Given the description of an element on the screen output the (x, y) to click on. 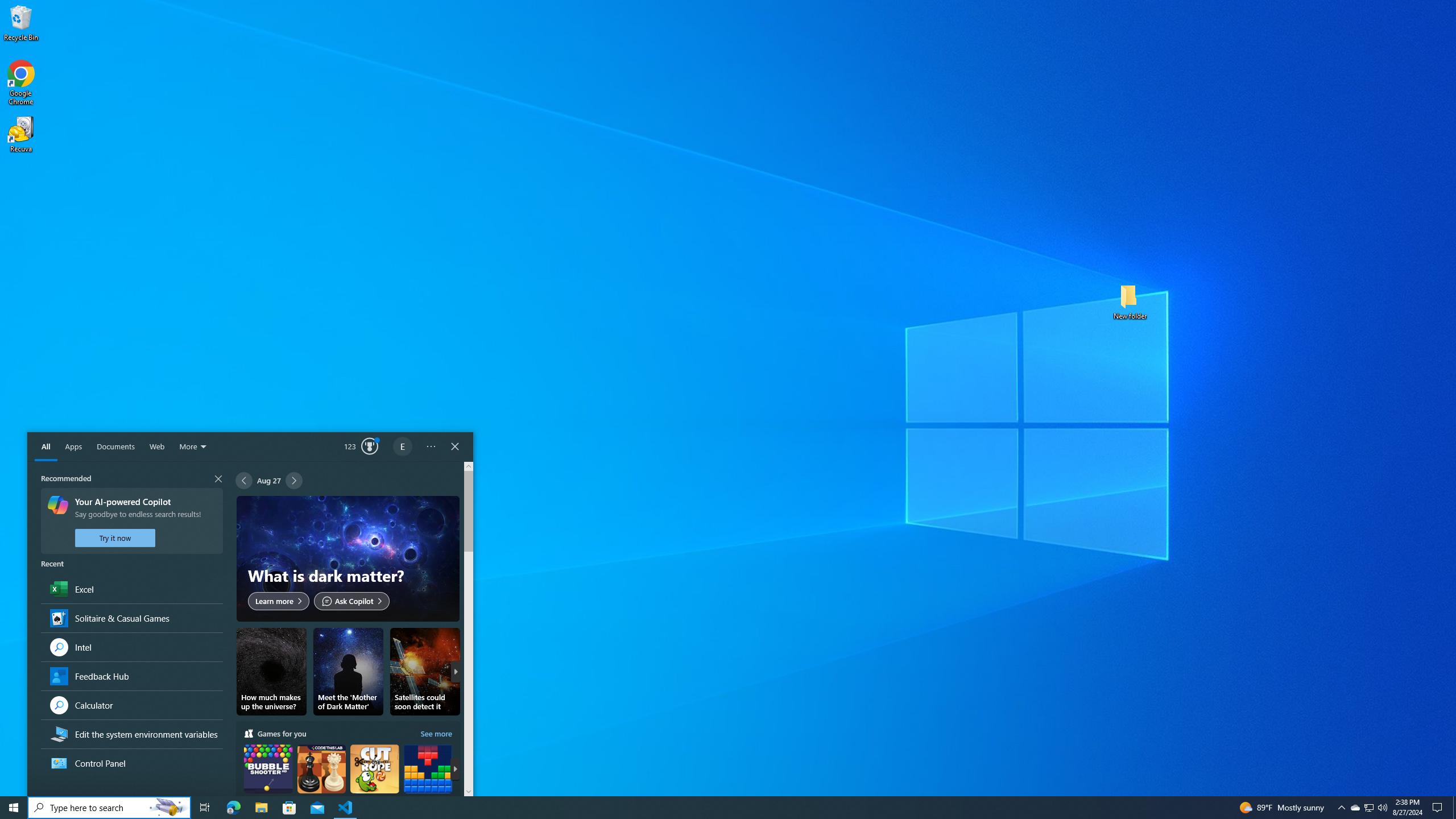
Learn more (277, 601)
Dismiss (445, 509)
BlockBuster: Adventures Puzzle (427, 778)
Ask Copilot (352, 601)
Options (430, 447)
Search box (86, 807)
Documents (115, 447)
Apps (73, 447)
Control Panel, App (131, 762)
More (194, 447)
Bubble Shooter HD (268, 778)
See more (436, 732)
